Given the description of an element on the screen output the (x, y) to click on. 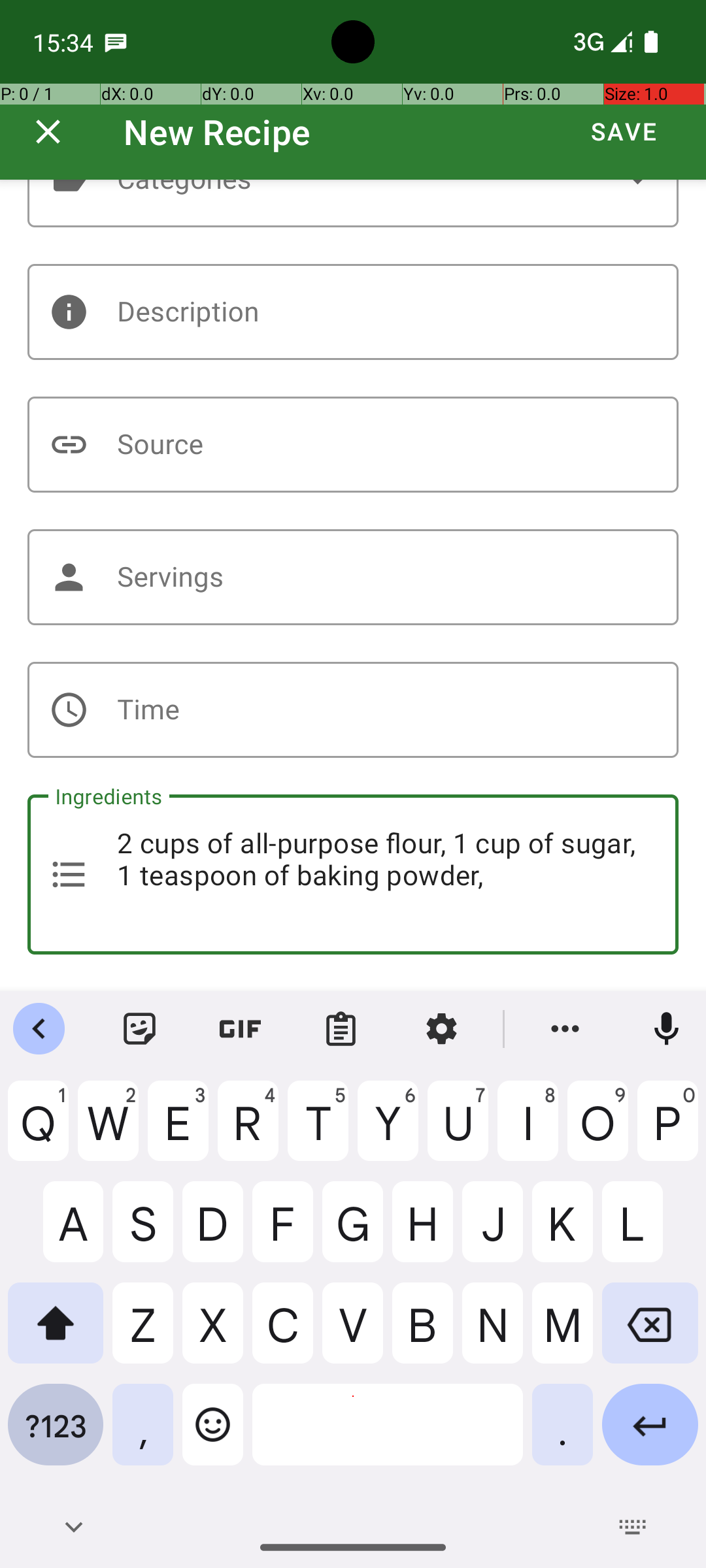
2 cups of all-purpose flour, 1 cup of sugar, 1 teaspoon of baking powder,
 Element type: android.widget.EditText (352, 874)
